Given the description of an element on the screen output the (x, y) to click on. 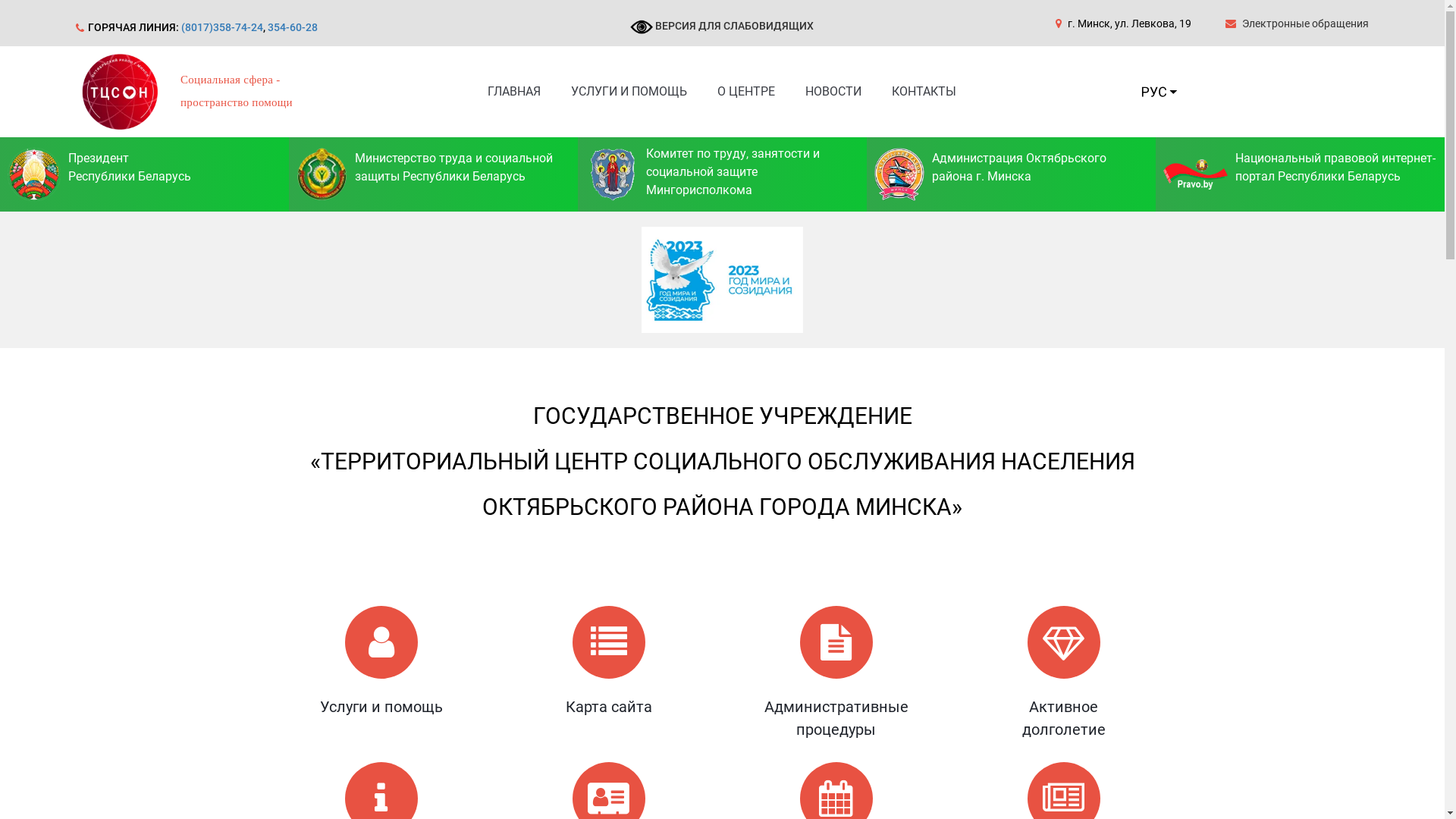
(8017)358-74-24 Element type: text (222, 27)
354-60-28 Element type: text (292, 27)
